Given the description of an element on the screen output the (x, y) to click on. 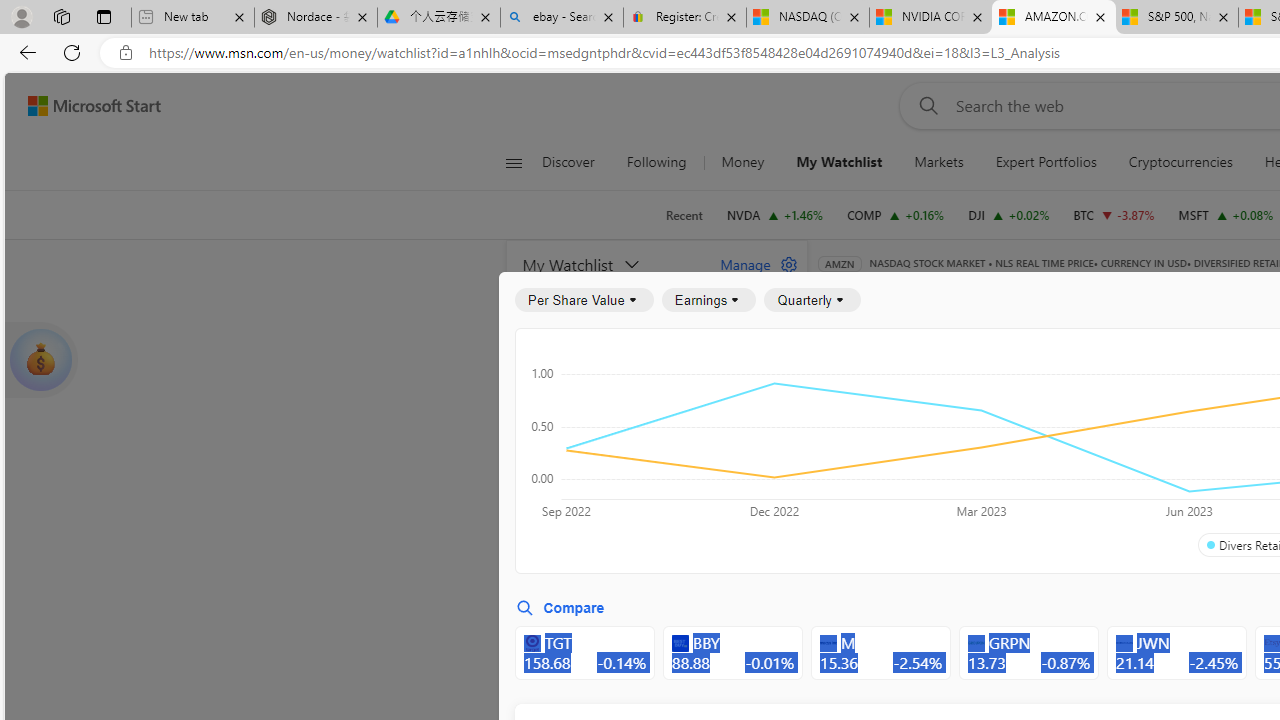
DJI DOW increase 41,250.50 +9.98 +0.02% (1009, 214)
Cryptocurrencies (1180, 162)
S&P 500, Nasdaq end lower, weighed by Nvidia dip | Watch (1176, 17)
Expert Portfolios (1045, 162)
COMP NASDAQ increase 17,754.82 +29.06 +0.16% (895, 214)
Income Statement (968, 391)
Quarterly (812, 300)
Skip to footer (82, 105)
Key Ratios (867, 391)
Expert Portfolios (1046, 162)
